Given the description of an element on the screen output the (x, y) to click on. 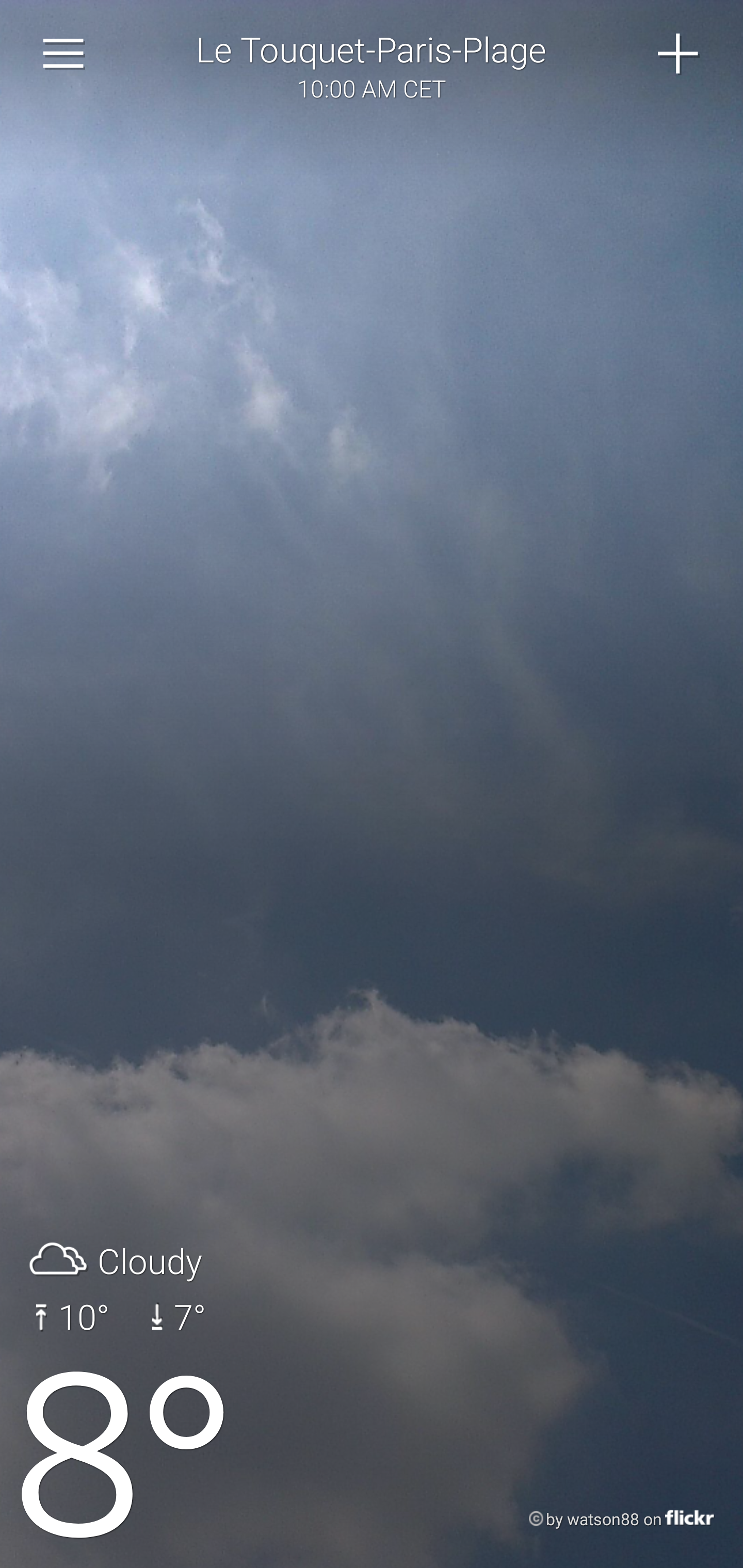
Sidebar (64, 54)
Add City (678, 53)
